Given the description of an element on the screen output the (x, y) to click on. 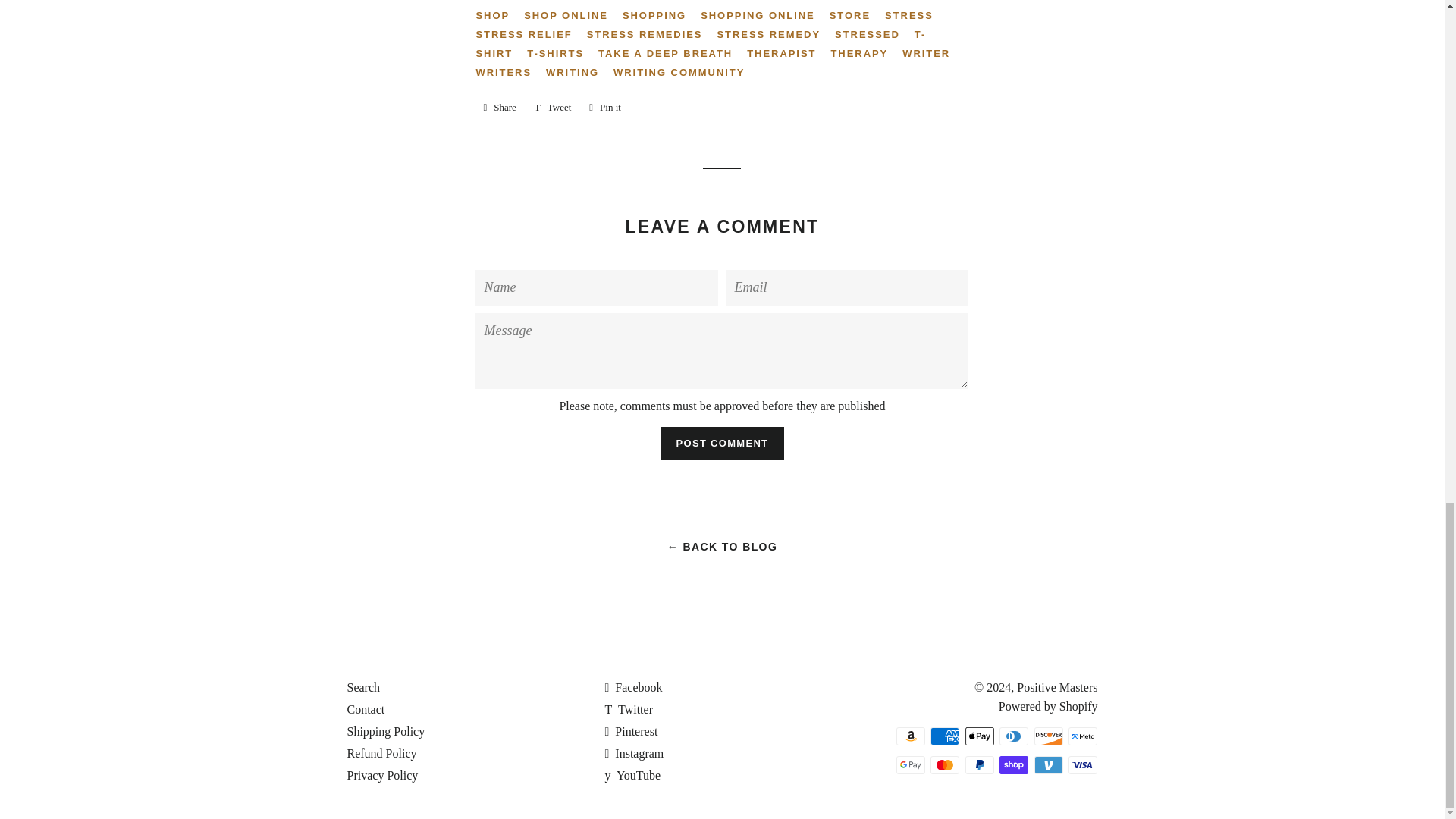
Apple Pay (979, 736)
Diners Club (1012, 736)
Tweet on Twitter (553, 107)
Shop Pay (1012, 764)
Venmo (1047, 764)
Discover (1047, 736)
Pin on Pinterest (604, 107)
Visa (1082, 764)
Amazon (910, 736)
Positive Masters on Pinterest (631, 730)
Google Pay (910, 764)
Positive Masters on Instagram (633, 753)
Meta Pay (1082, 736)
Share on Facebook (499, 107)
PayPal (979, 764)
